Given the description of an element on the screen output the (x, y) to click on. 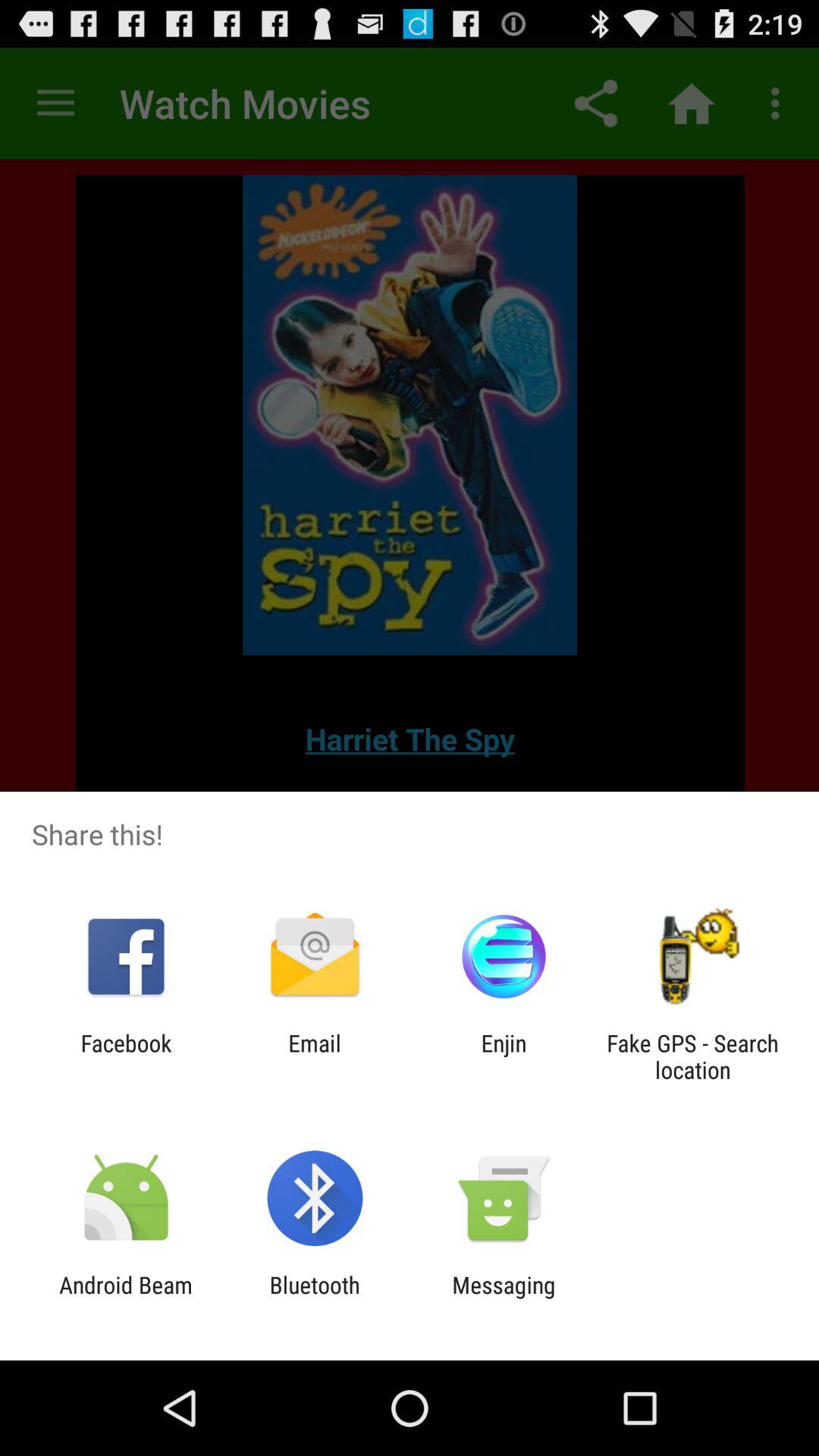
press the icon next to email (503, 1056)
